Given the description of an element on the screen output the (x, y) to click on. 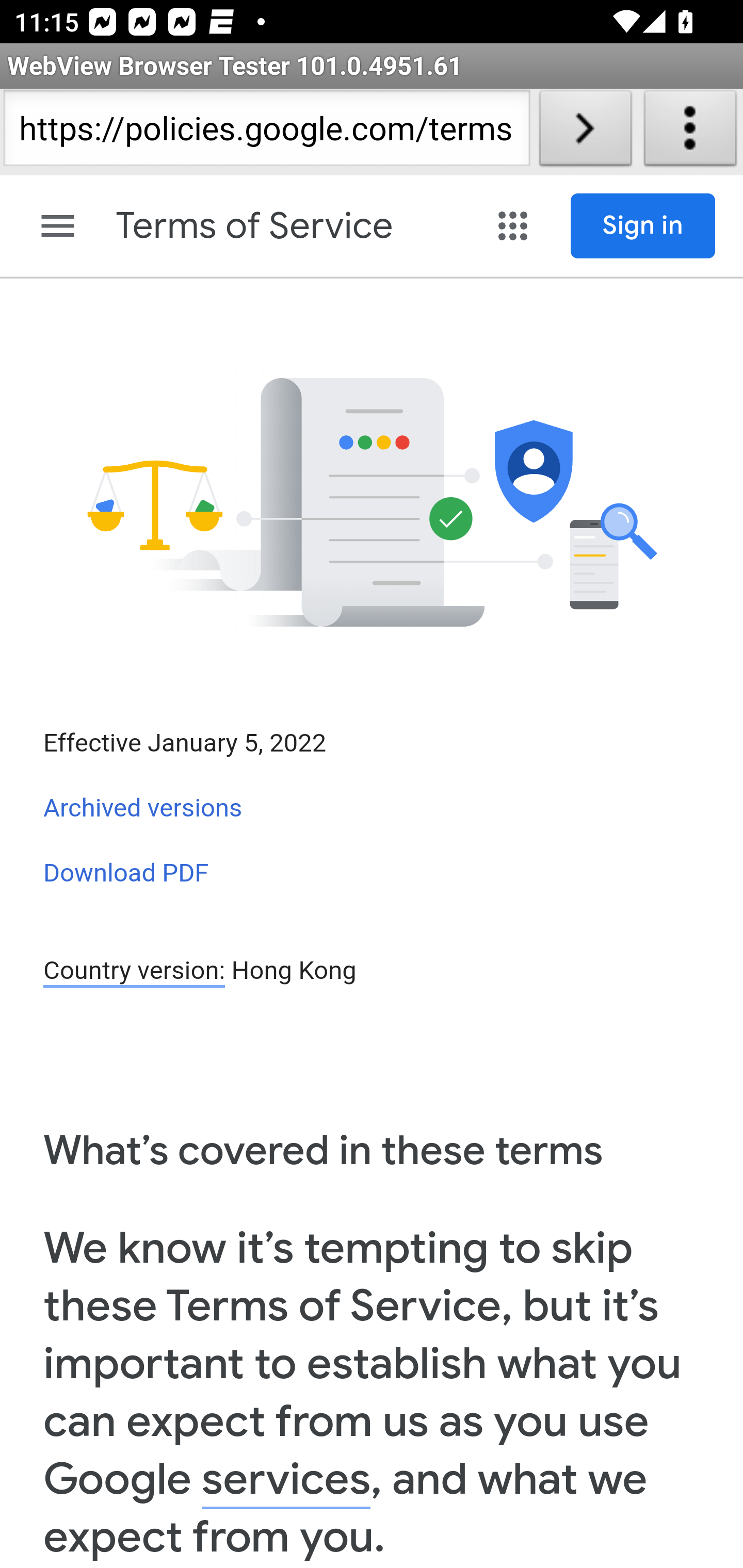
https://policies.google.com/terms (266, 132)
Load URL (585, 132)
About WebView (690, 132)
Main menu (58, 226)
Google apps (513, 226)
Sign in (643, 226)
Archived versions (143, 808)
Download PDF (126, 872)
Country version: (134, 971)
services (285, 1479)
